Given the description of an element on the screen output the (x, y) to click on. 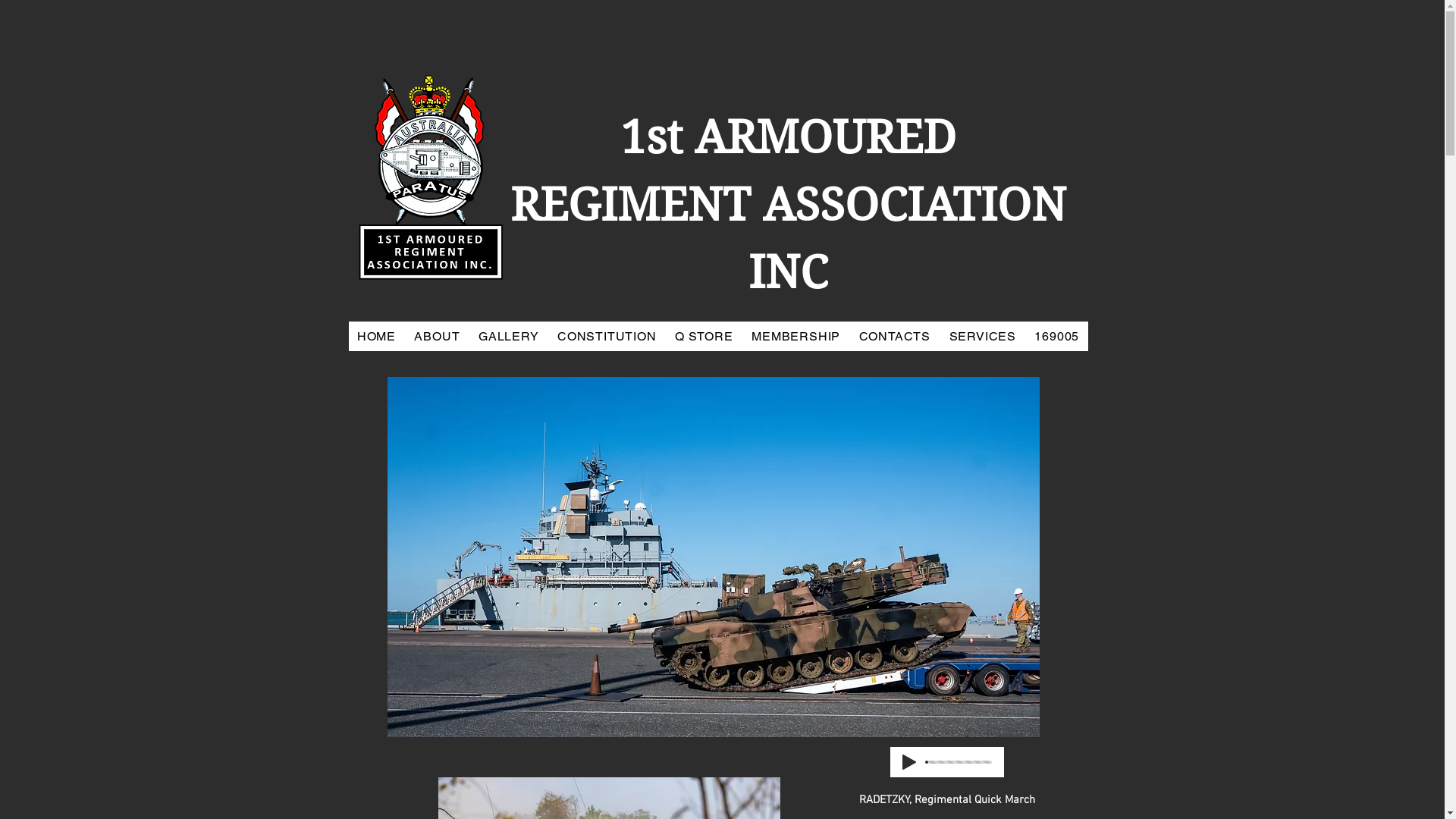
CONTACTS Element type: text (894, 336)
CONSTITUTION Element type: text (607, 336)
GALLERY Element type: text (508, 336)
169005 Element type: text (1056, 336)
SERVICES Element type: text (982, 336)
MEMBERSHIP Element type: text (795, 336)
HOME Element type: text (376, 336)
ABOUT Element type: text (436, 336)
Q STORE Element type: text (703, 336)
